Given the description of an element on the screen output the (x, y) to click on. 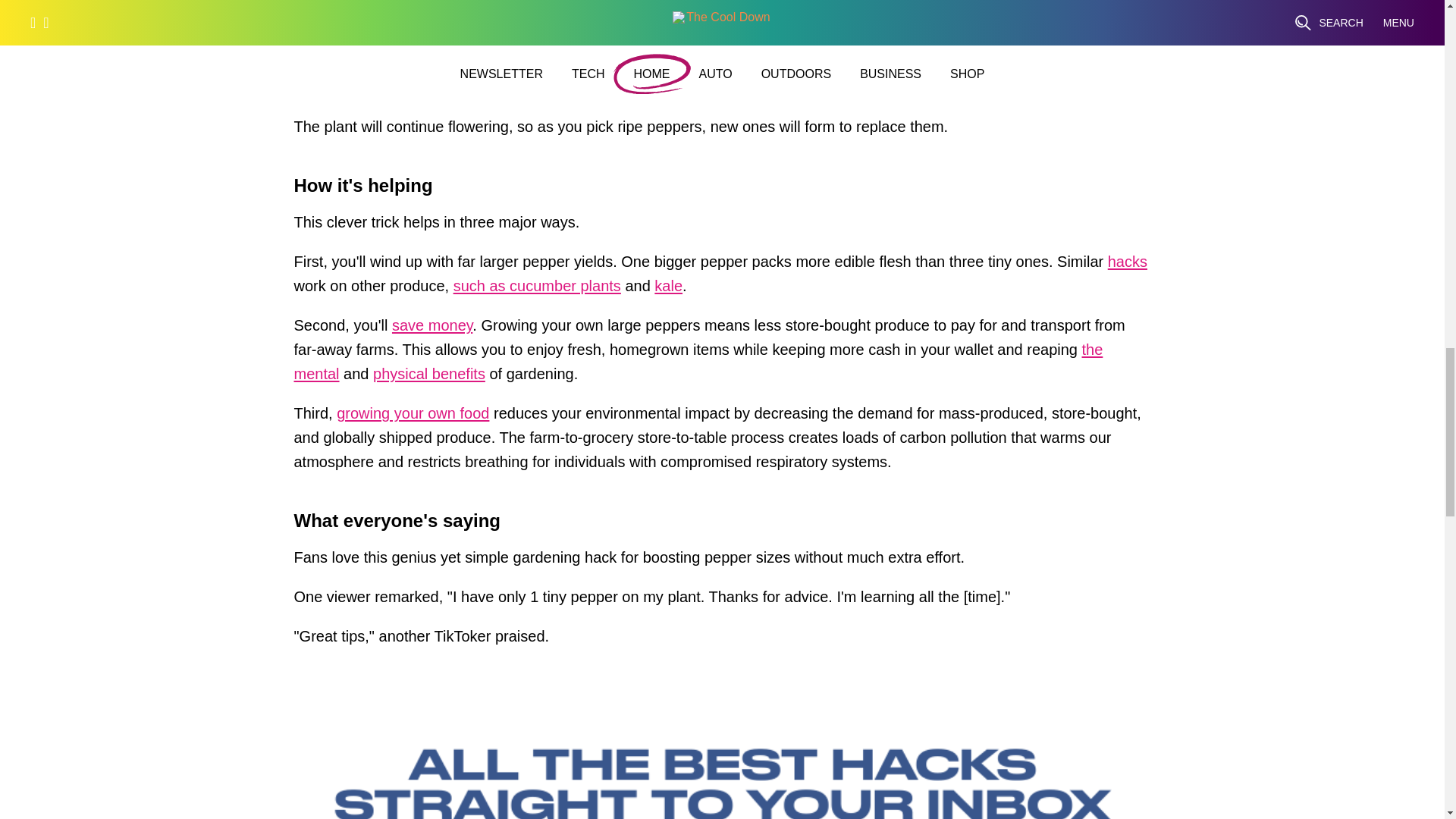
Money Saving (431, 328)
Sign Up (1038, 29)
Hacks (1127, 265)
